Given the description of an element on the screen output the (x, y) to click on. 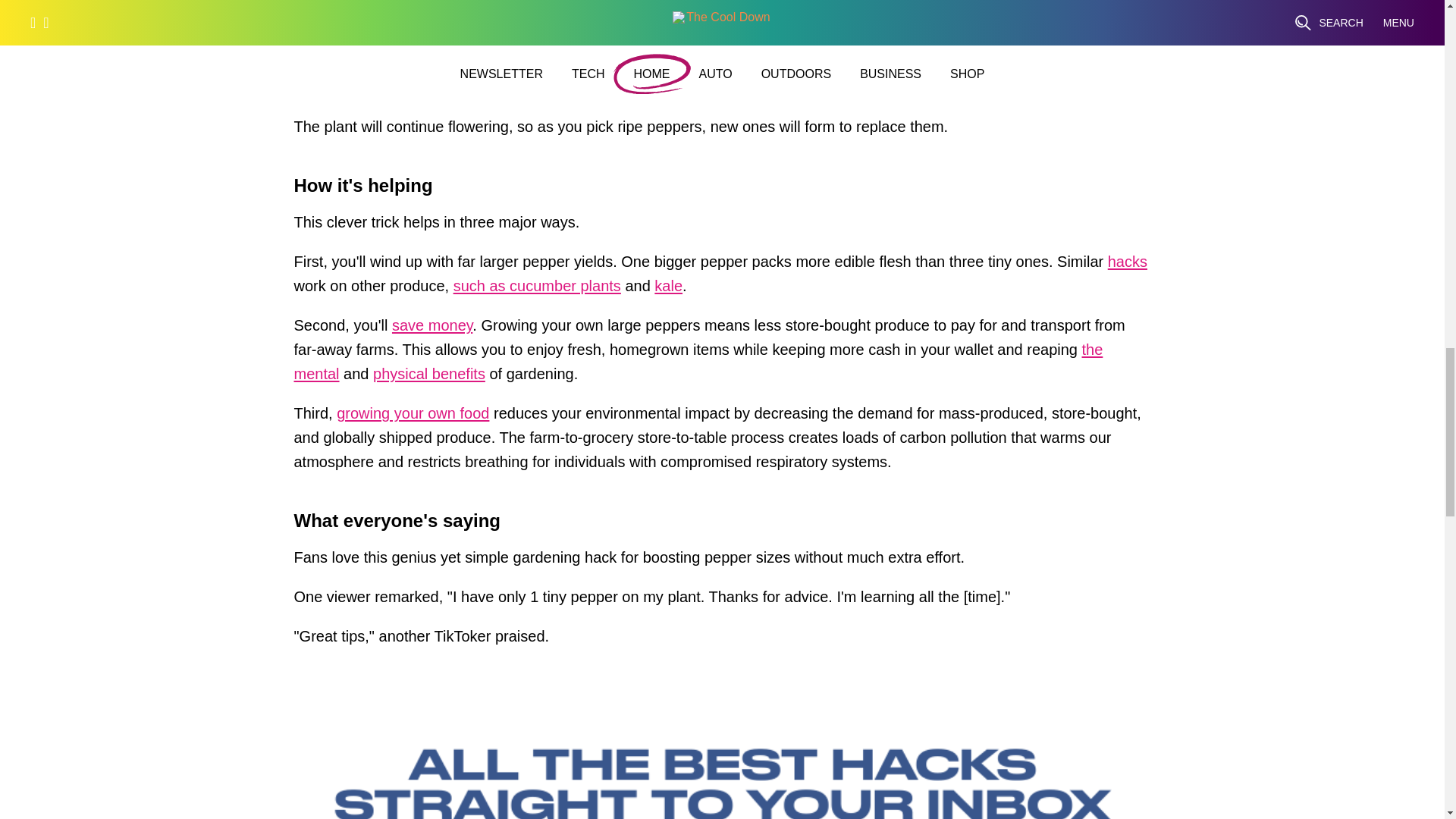
Money Saving (431, 328)
Sign Up (1038, 29)
Hacks (1127, 265)
